Given the description of an element on the screen output the (x, y) to click on. 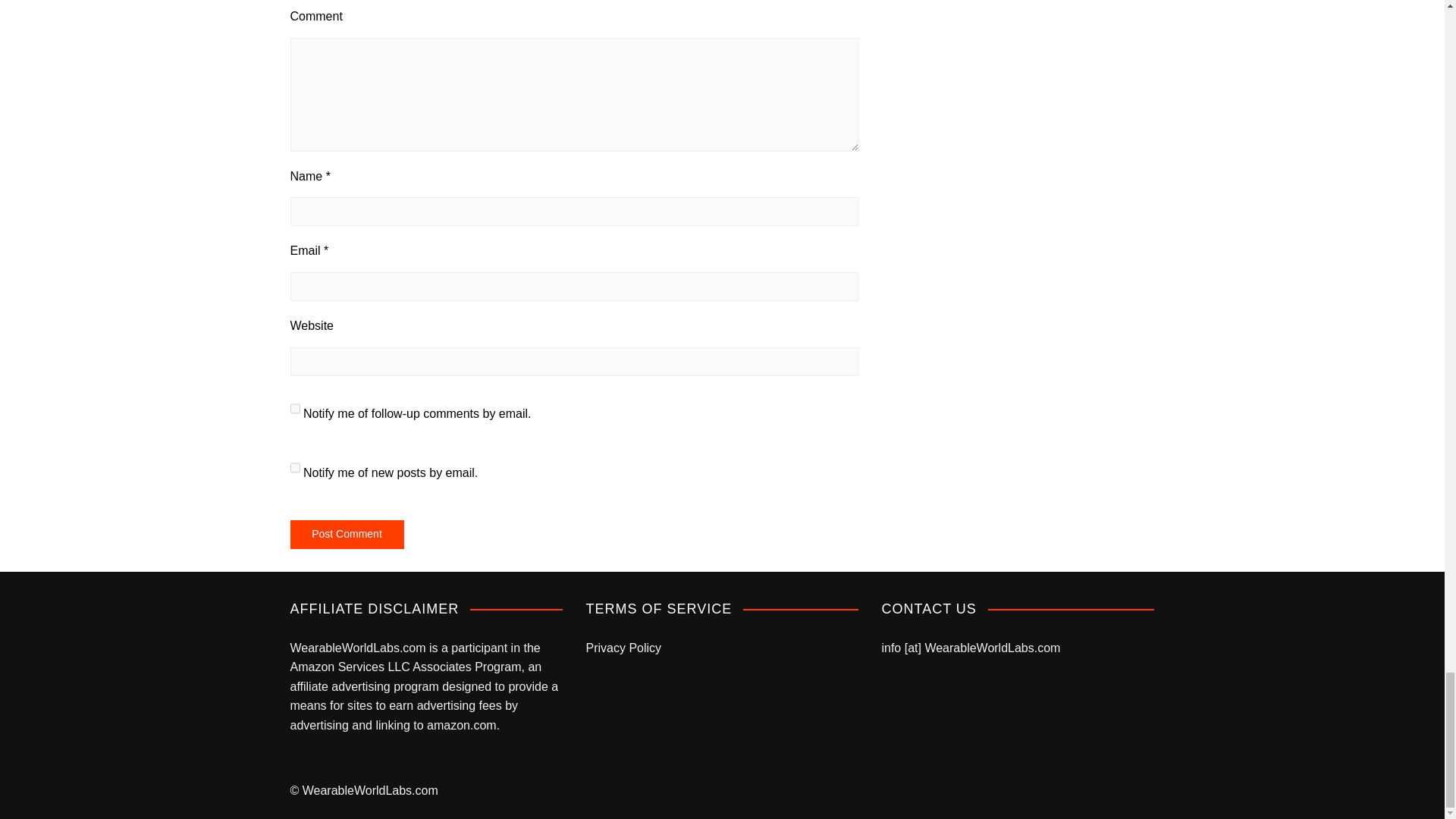
Post Comment (346, 534)
